Given the description of an element on the screen output the (x, y) to click on. 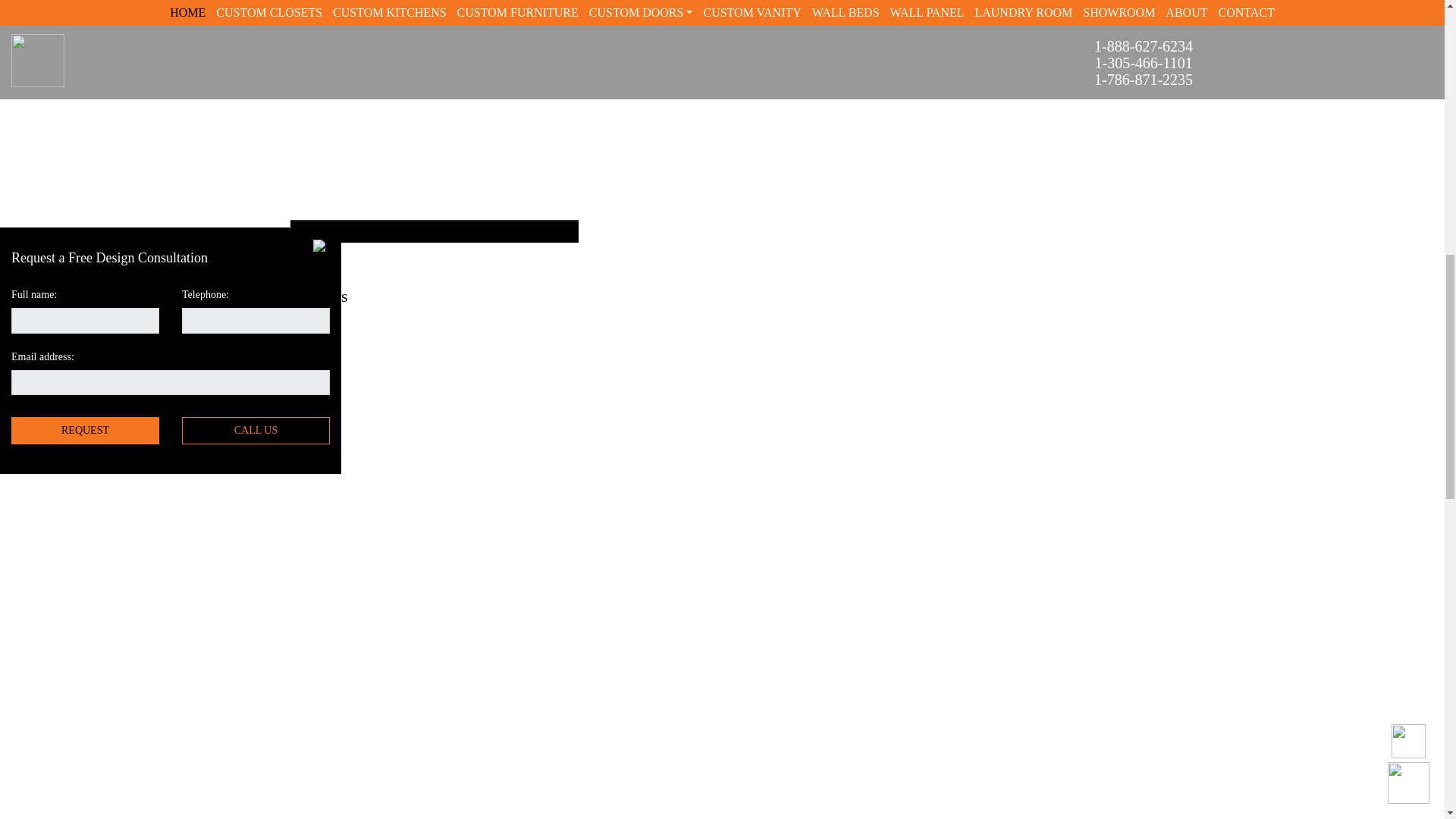
YouTube video player (506, 437)
YouTube video player (506, 687)
YouTube video player (937, 437)
